Given the description of an element on the screen output the (x, y) to click on. 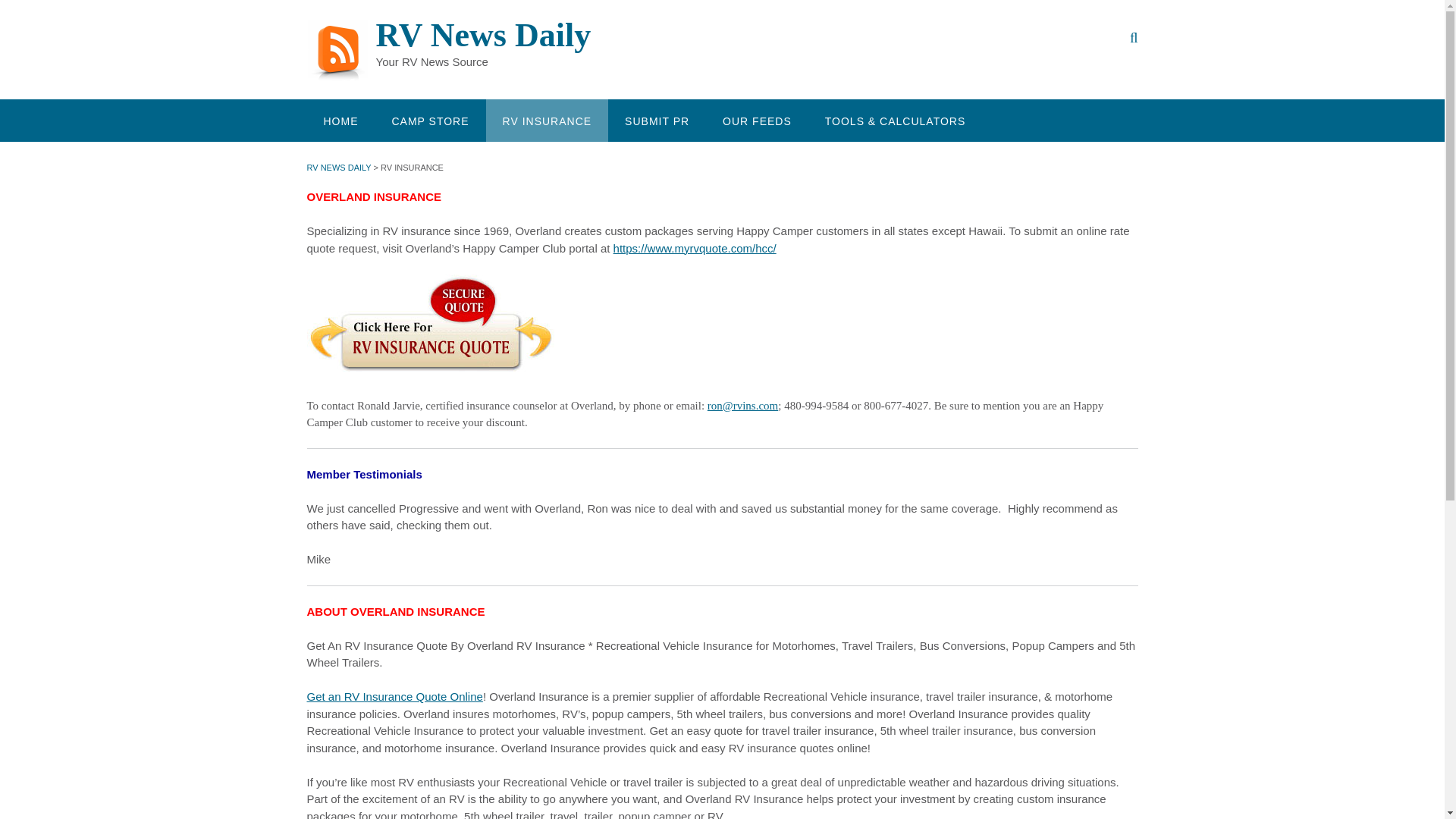
CAMP STORE (429, 120)
Go to RV News Daily. (338, 166)
RV NEWS DAILY (338, 166)
RV News Daily (340, 50)
Get an RV Insurance Quote Online (393, 696)
HOME (339, 120)
OUR FEEDS (757, 120)
SUBMIT PR (657, 120)
Search our website (1133, 37)
RV INSURANCE (547, 120)
RV News Daily (483, 35)
RV News Daily (483, 35)
